Given the description of an element on the screen output the (x, y) to click on. 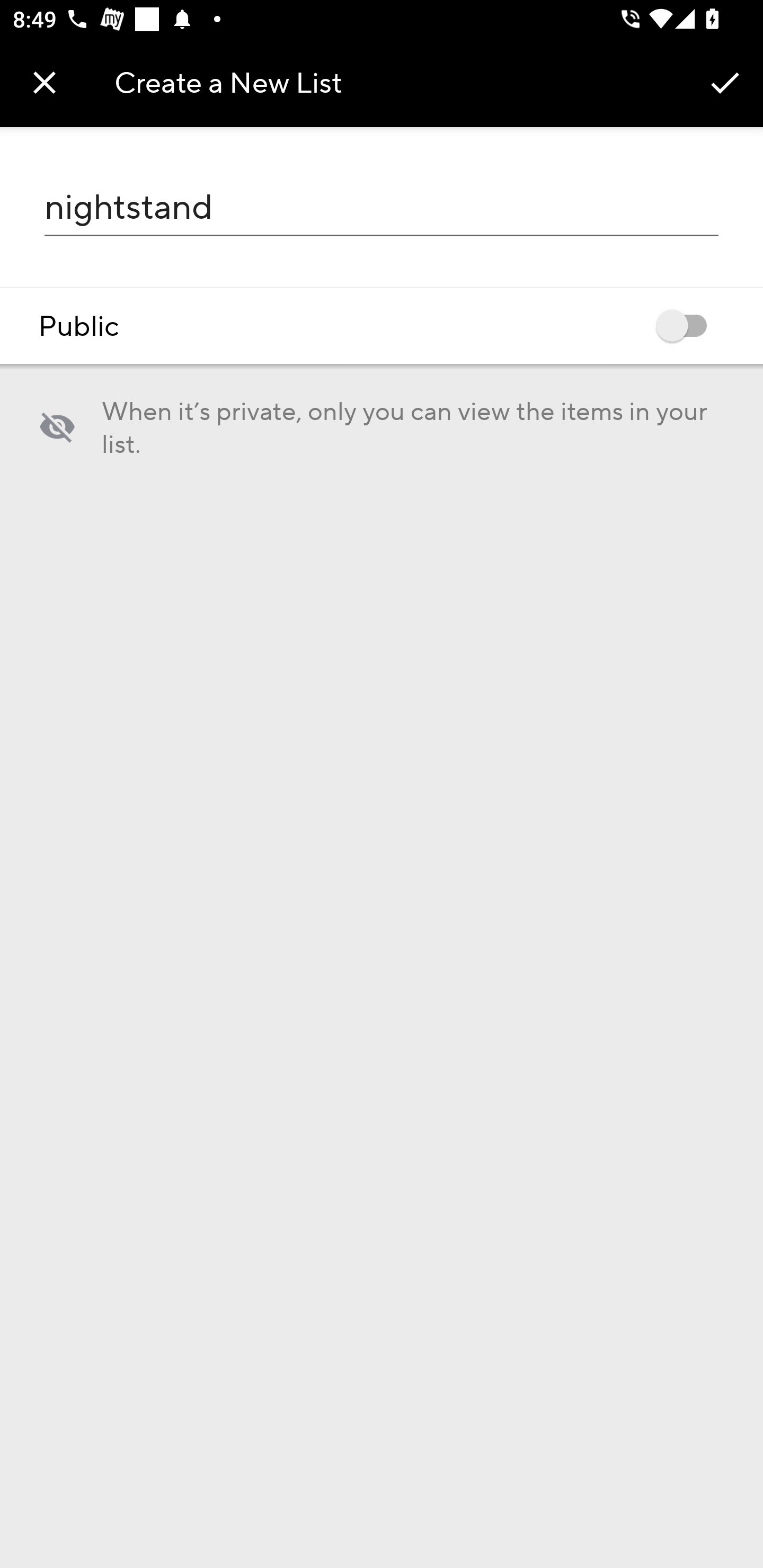
Navigate up (44, 82)
Done (724, 81)
nightstand (381, 206)
